Given the description of an element on the screen output the (x, y) to click on. 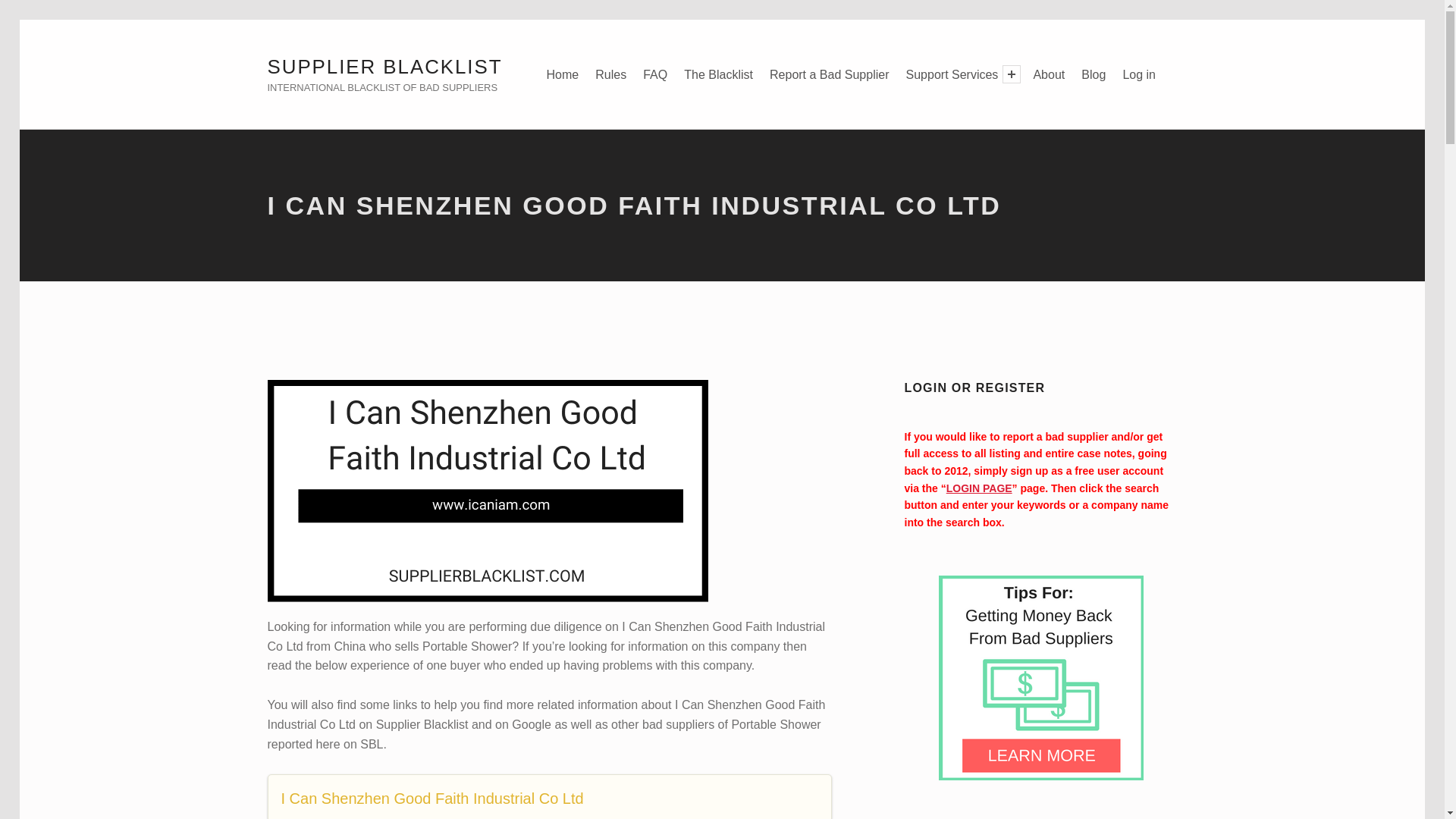
About (1047, 74)
SUPPLIER BLACKLIST (384, 66)
Support Services (952, 74)
Home (562, 74)
Home (562, 74)
Buyer Support Services (952, 74)
FAQ (655, 74)
Log in (1139, 74)
Forum Rules (610, 74)
Rules (610, 74)
About Us (1047, 74)
Report a Bad Supplier (829, 74)
The Blacklist (718, 74)
Latest Blog Posts on SBL (1093, 74)
